Given the description of an element on the screen output the (x, y) to click on. 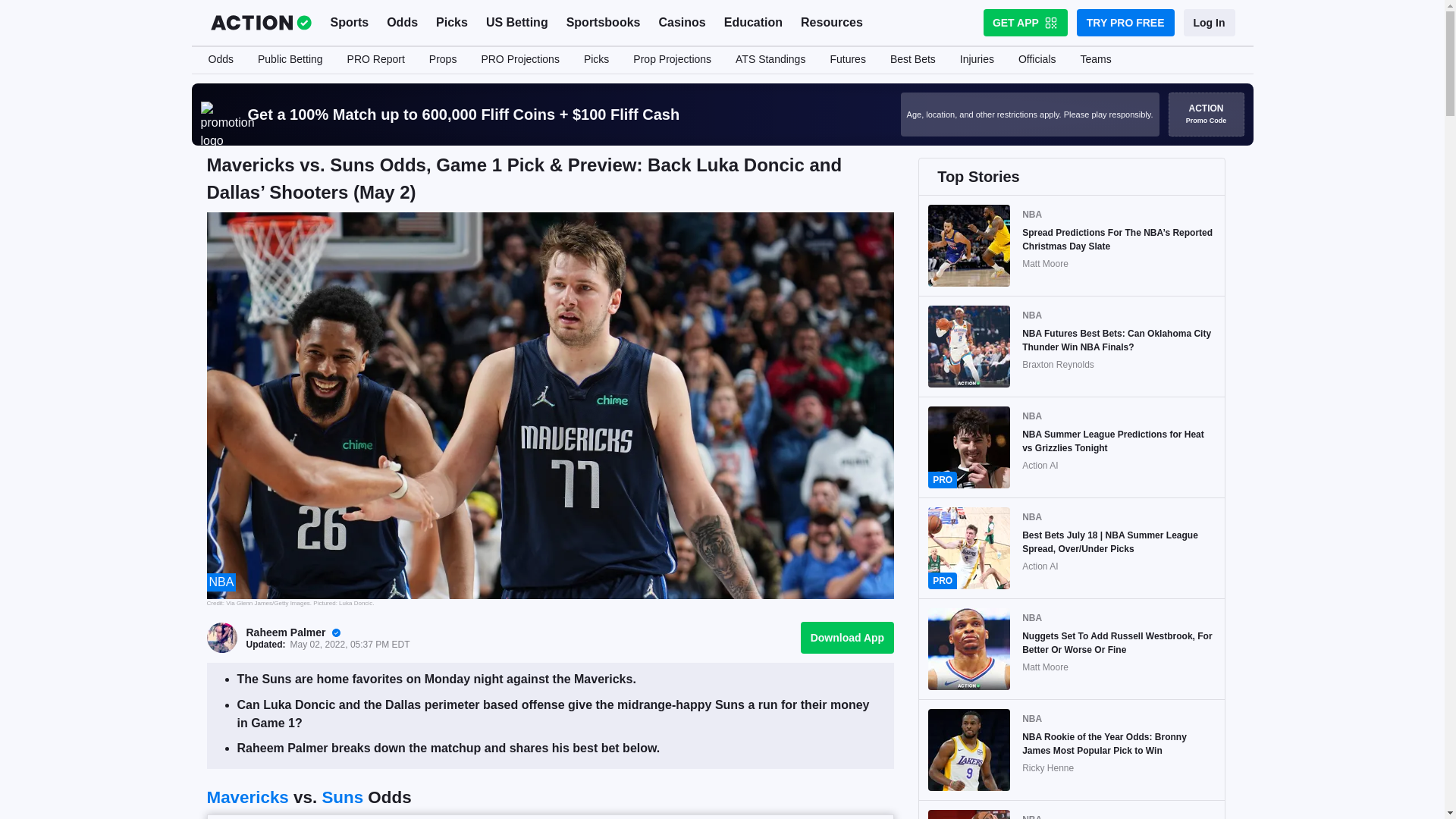
PRO Projections (519, 59)
Injuries (976, 59)
Officials (1037, 59)
Suns (341, 796)
PRO Report (375, 59)
ATS Standings (769, 59)
Best Bets (912, 59)
Teams (1094, 59)
Sportsbooks (603, 23)
Log In (1208, 22)
